Given the description of an element on the screen output the (x, y) to click on. 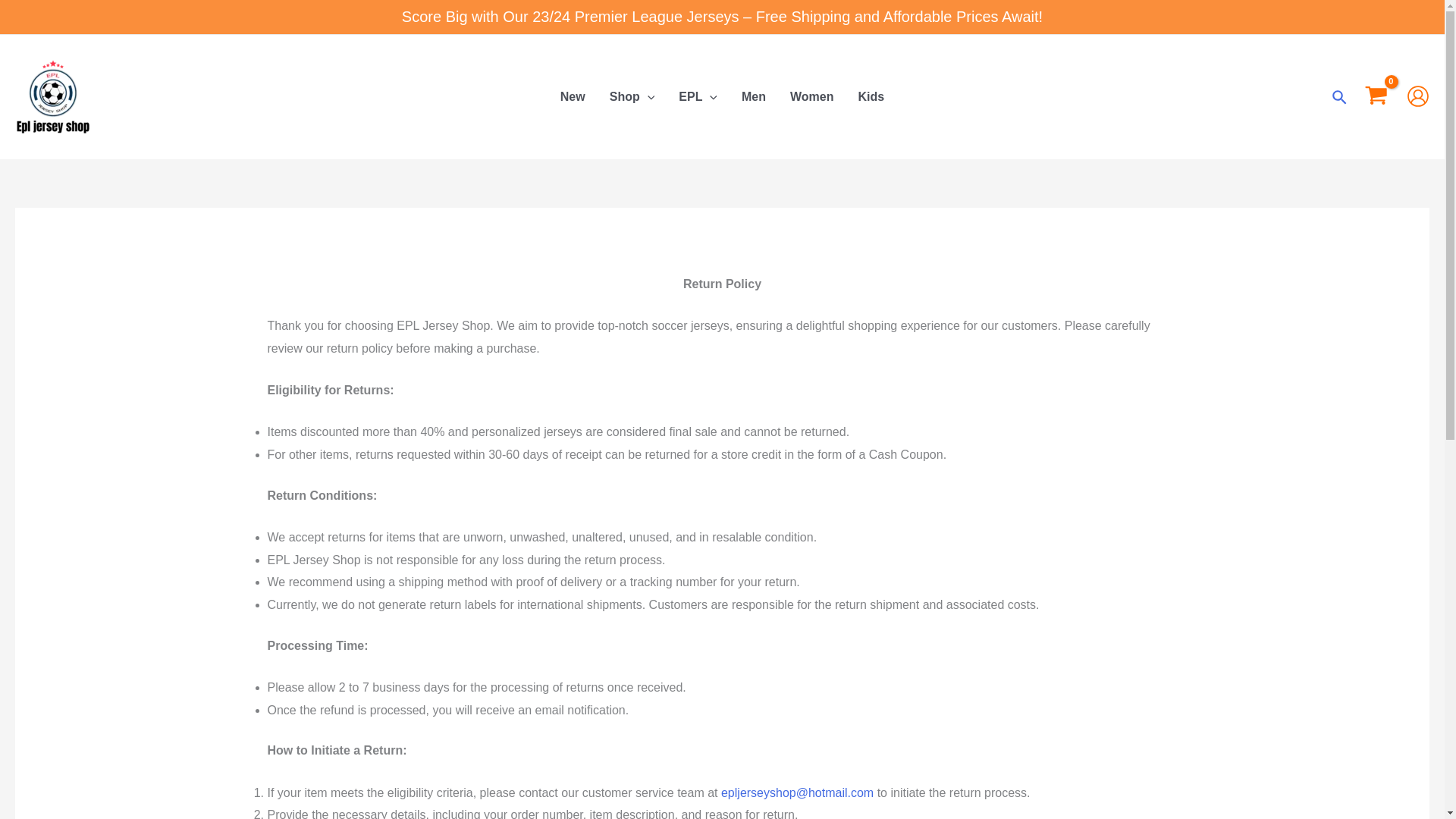
New (572, 96)
EPL (697, 96)
Shop (631, 96)
